Given the description of an element on the screen output the (x, y) to click on. 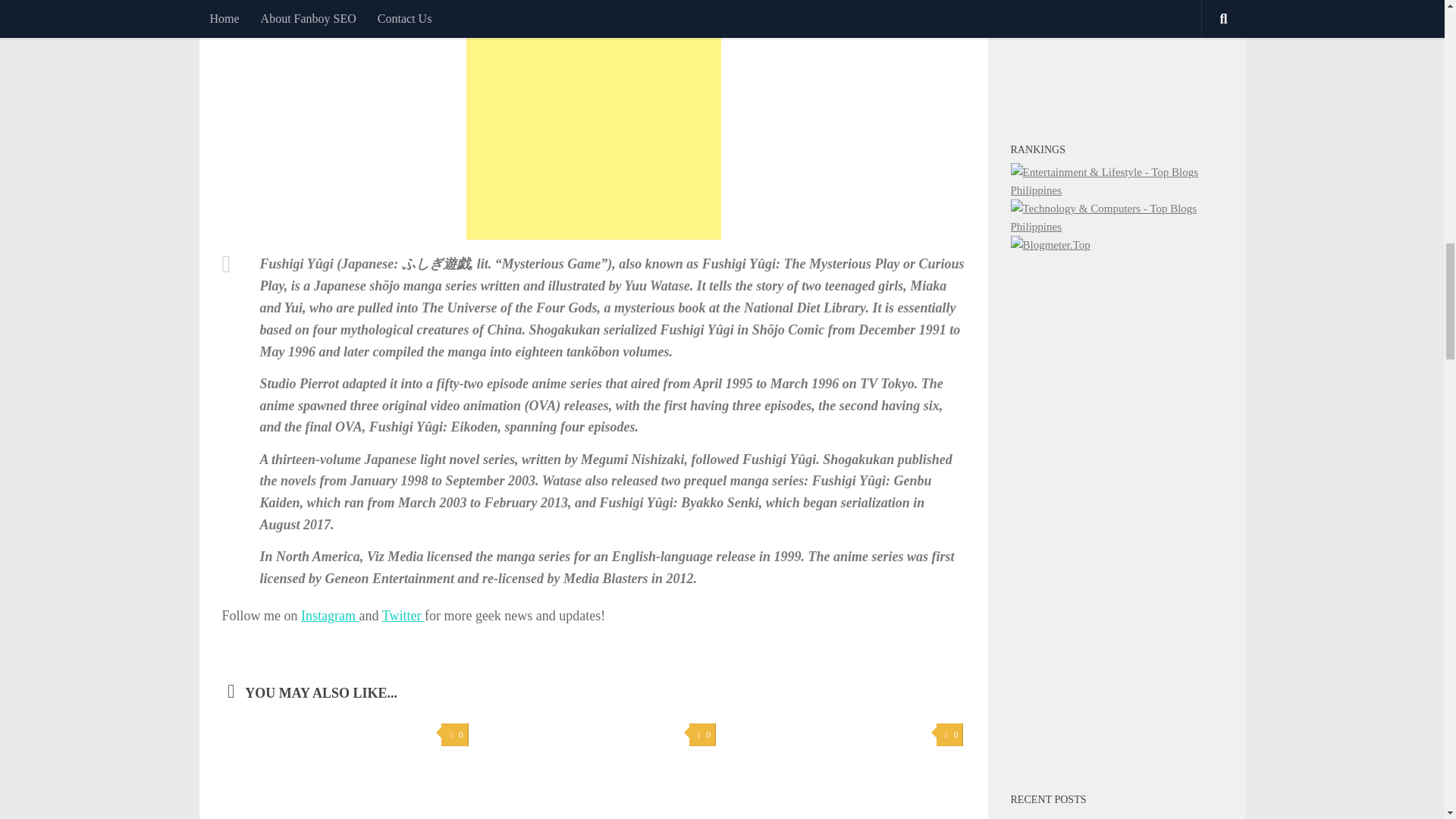
Instagram (329, 615)
0 (454, 734)
Twitter (403, 615)
0 (702, 734)
